Given the description of an element on the screen output the (x, y) to click on. 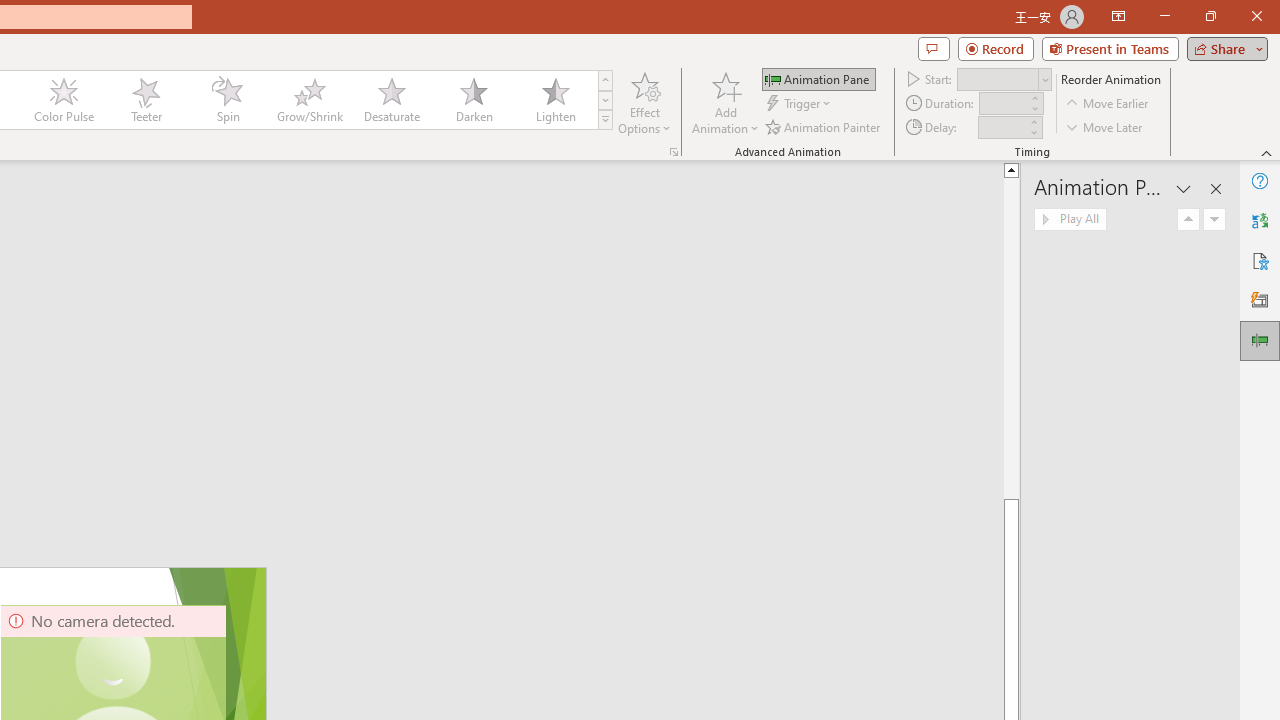
Move Up (1188, 219)
Animation Pane (818, 78)
Trigger (799, 103)
Animation Pane (1260, 340)
Play All (1070, 219)
More Options... (673, 151)
Move Down (1214, 219)
Animation Painter (824, 126)
Grow/Shrink (309, 100)
